Given the description of an element on the screen output the (x, y) to click on. 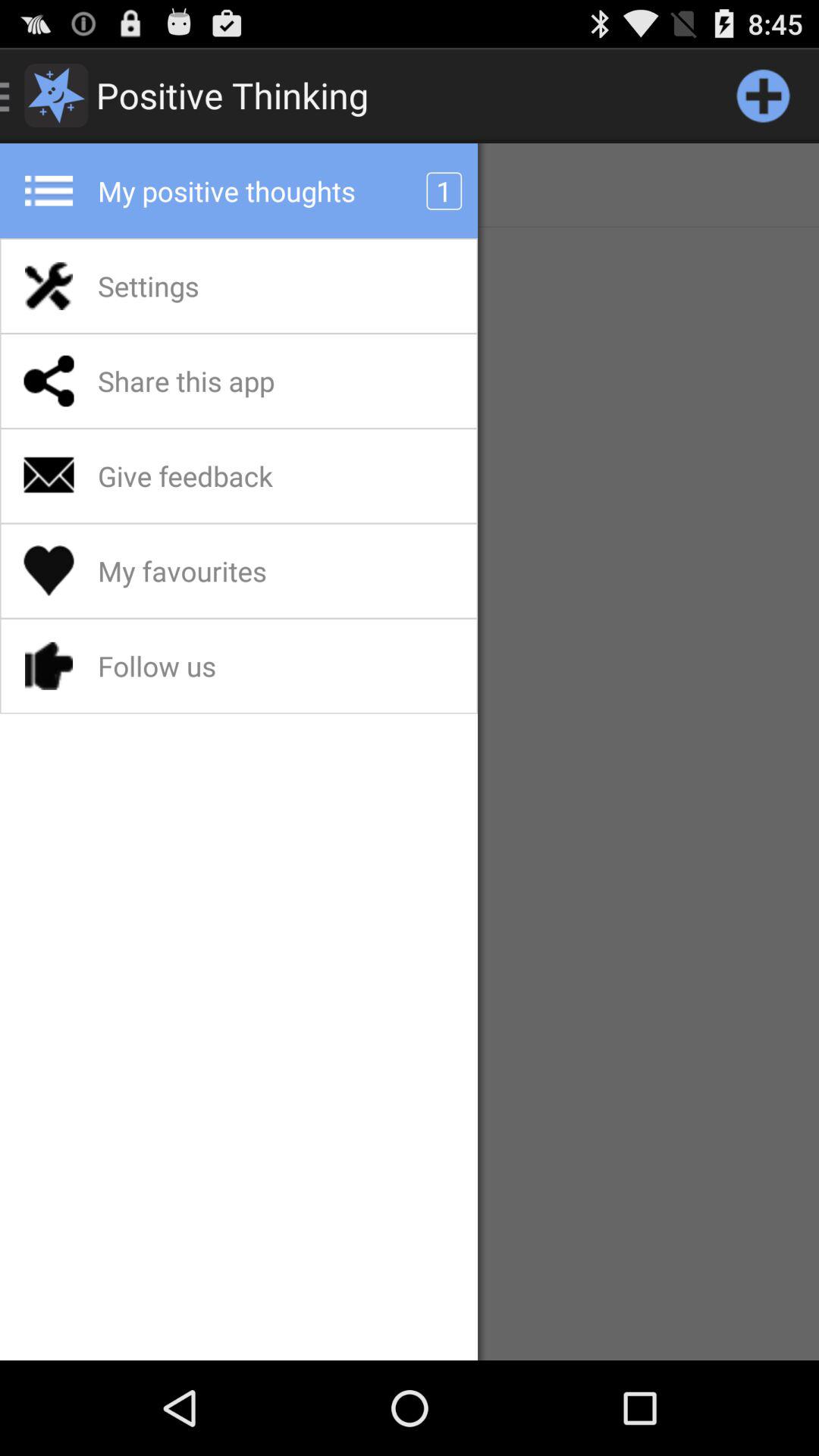
click my favourites (221, 570)
